Given the description of an element on the screen output the (x, y) to click on. 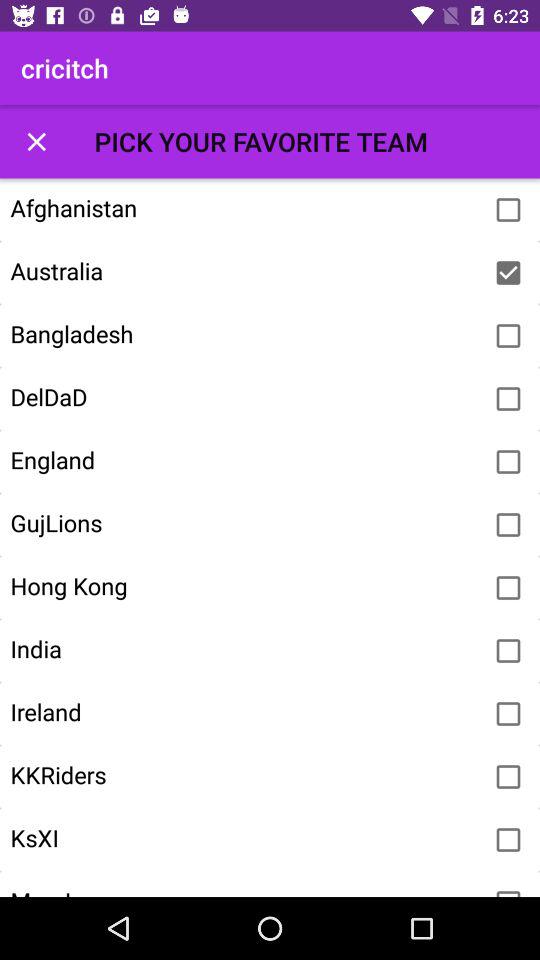
select team (508, 651)
